Given the description of an element on the screen output the (x, y) to click on. 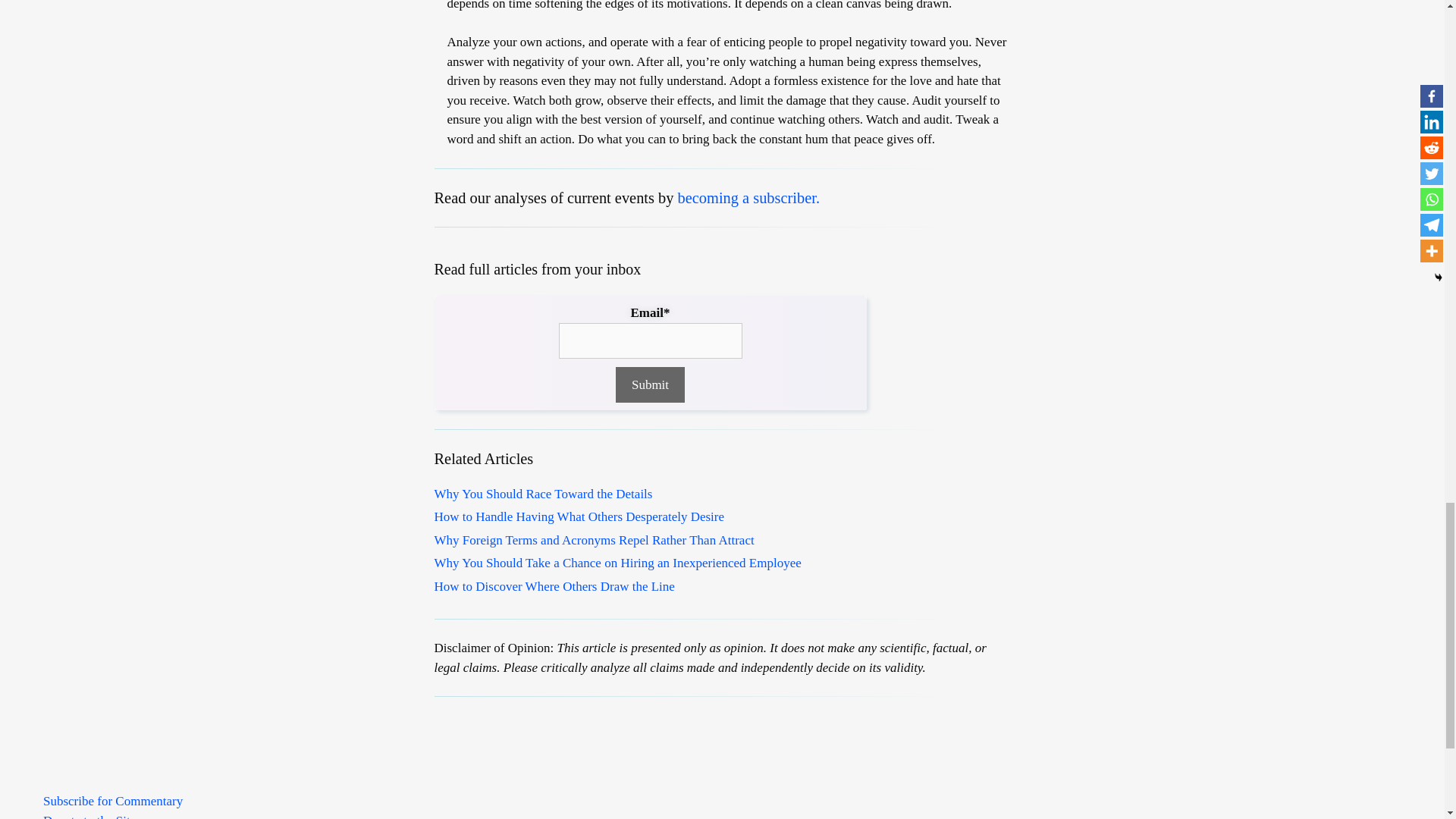
Submit (649, 384)
